Given the description of an element on the screen output the (x, y) to click on. 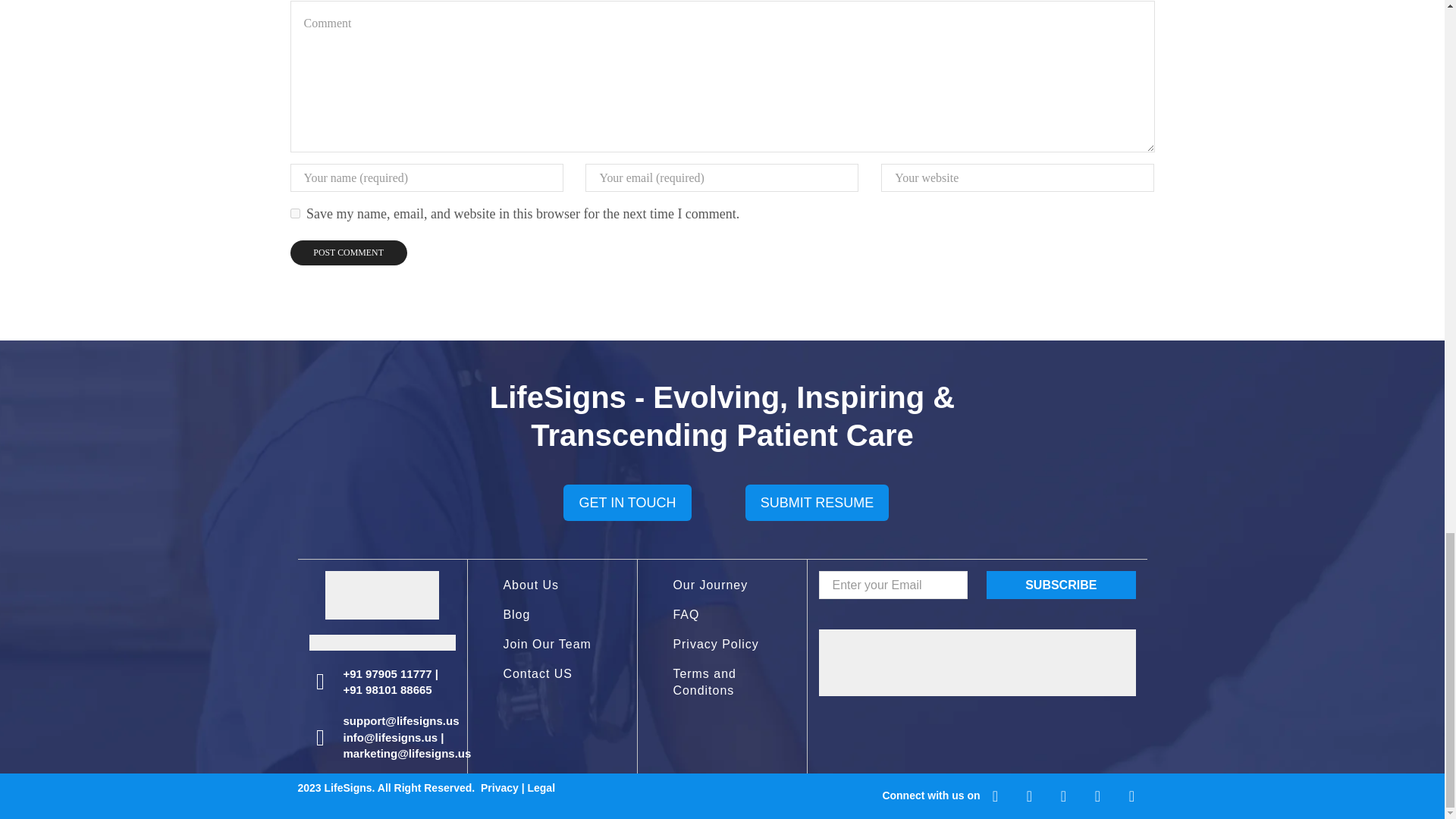
Post Comment (347, 252)
Privacy Policy (721, 644)
About Us (552, 585)
FAQ (721, 614)
yes (294, 213)
Our Journey (721, 585)
Blog (552, 614)
Contact US (552, 671)
Subscribe (1061, 584)
Terms and Conditons (721, 680)
Join Our Team (552, 644)
